Given the description of an element on the screen output the (x, y) to click on. 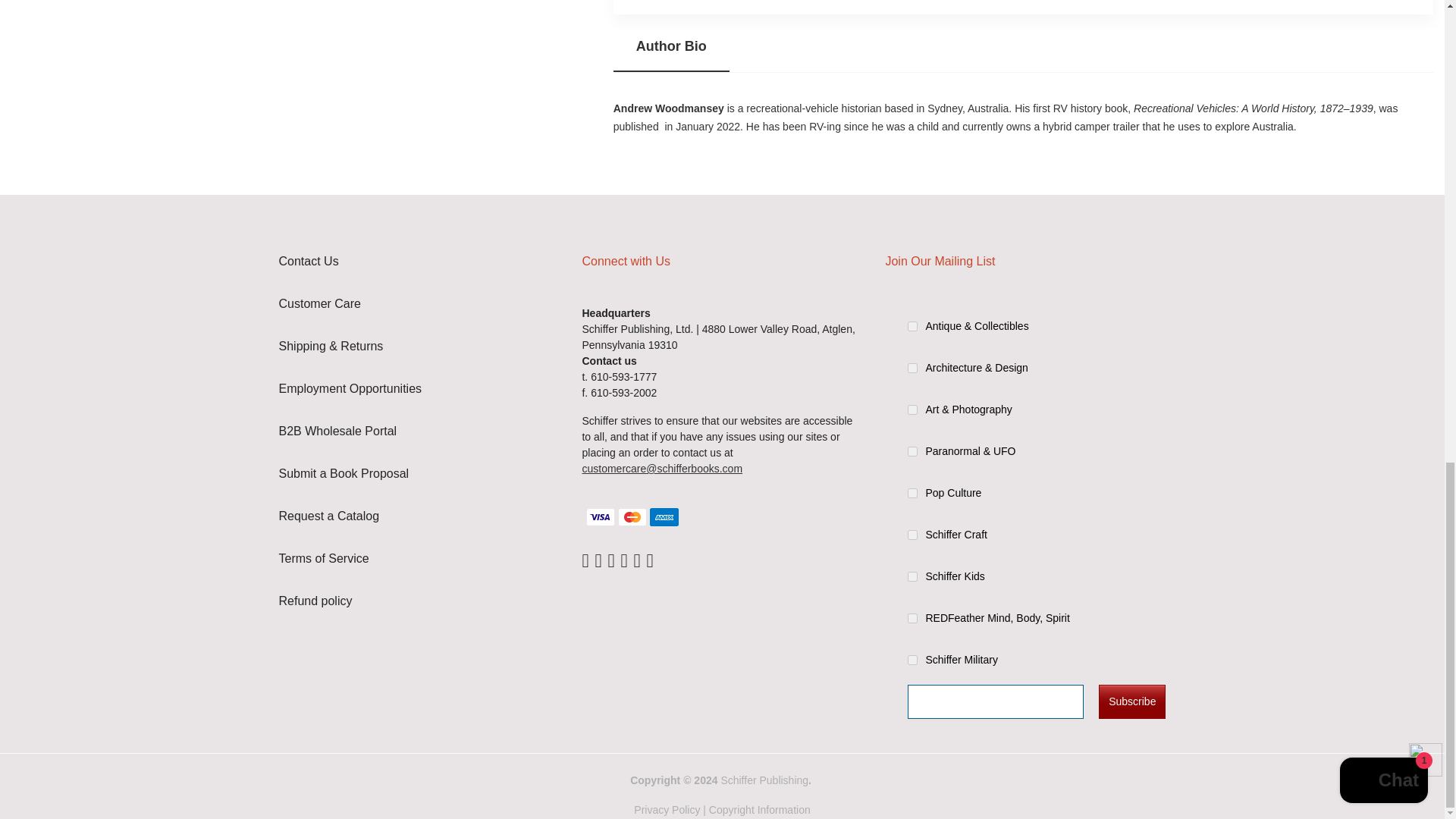
TRADEMARKS, COPYRIGHTS, AND RESTRICTIONS (759, 809)
Subscribe (1132, 701)
Privacy Policy (666, 809)
